Given the description of an element on the screen output the (x, y) to click on. 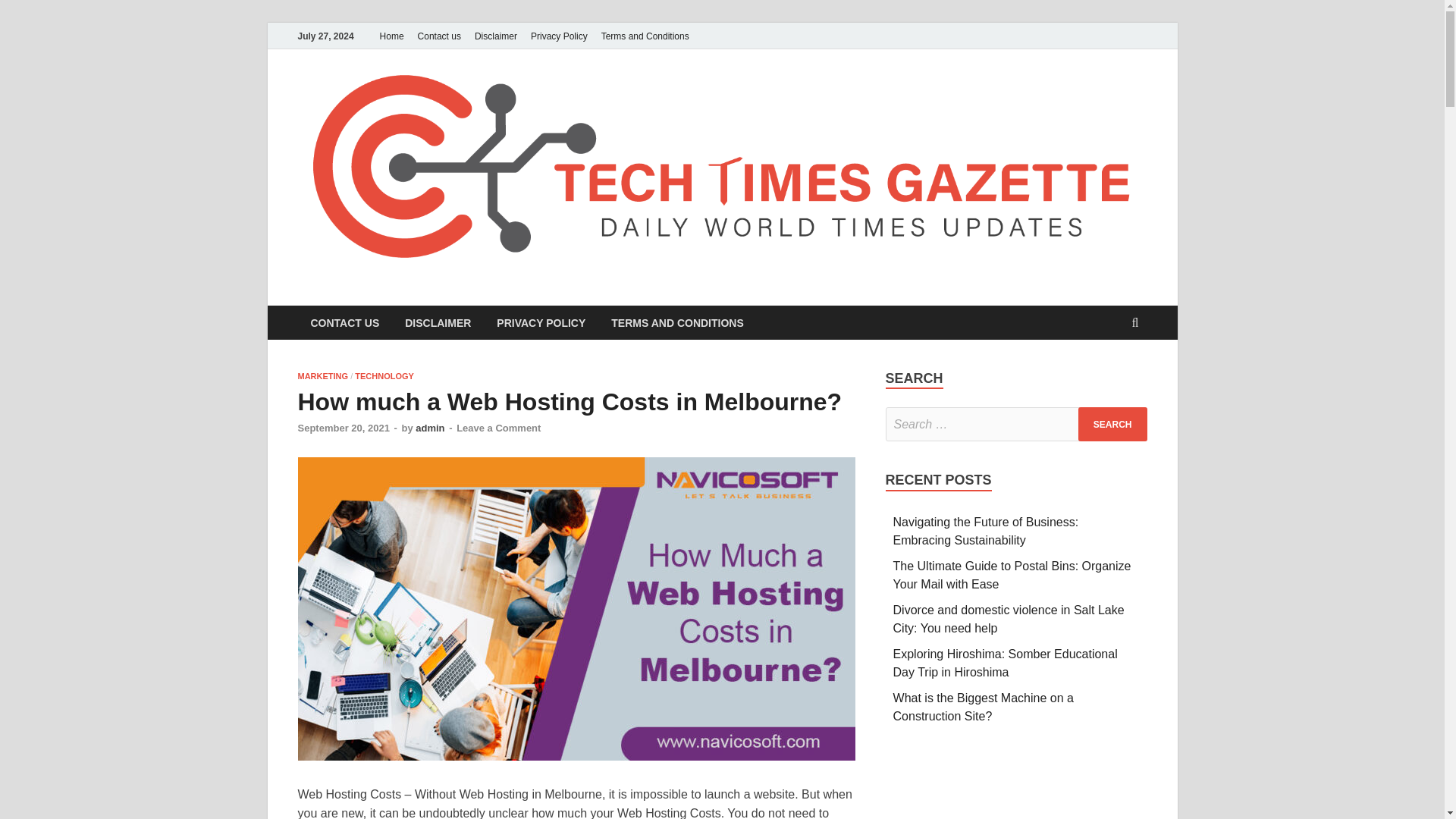
TECHNOLOGY (384, 375)
CONTACT US (344, 322)
Search (1112, 424)
admin (429, 428)
Terms and Conditions (644, 35)
Disclaimer (495, 35)
MARKETING (322, 375)
PRIVACY POLICY (540, 322)
TERMS AND CONDITIONS (676, 322)
Leave a Comment (498, 428)
Tech Times Gazette (435, 296)
Home (391, 35)
Privacy Policy (559, 35)
September 20, 2021 (342, 428)
Search (1112, 424)
